Given the description of an element on the screen output the (x, y) to click on. 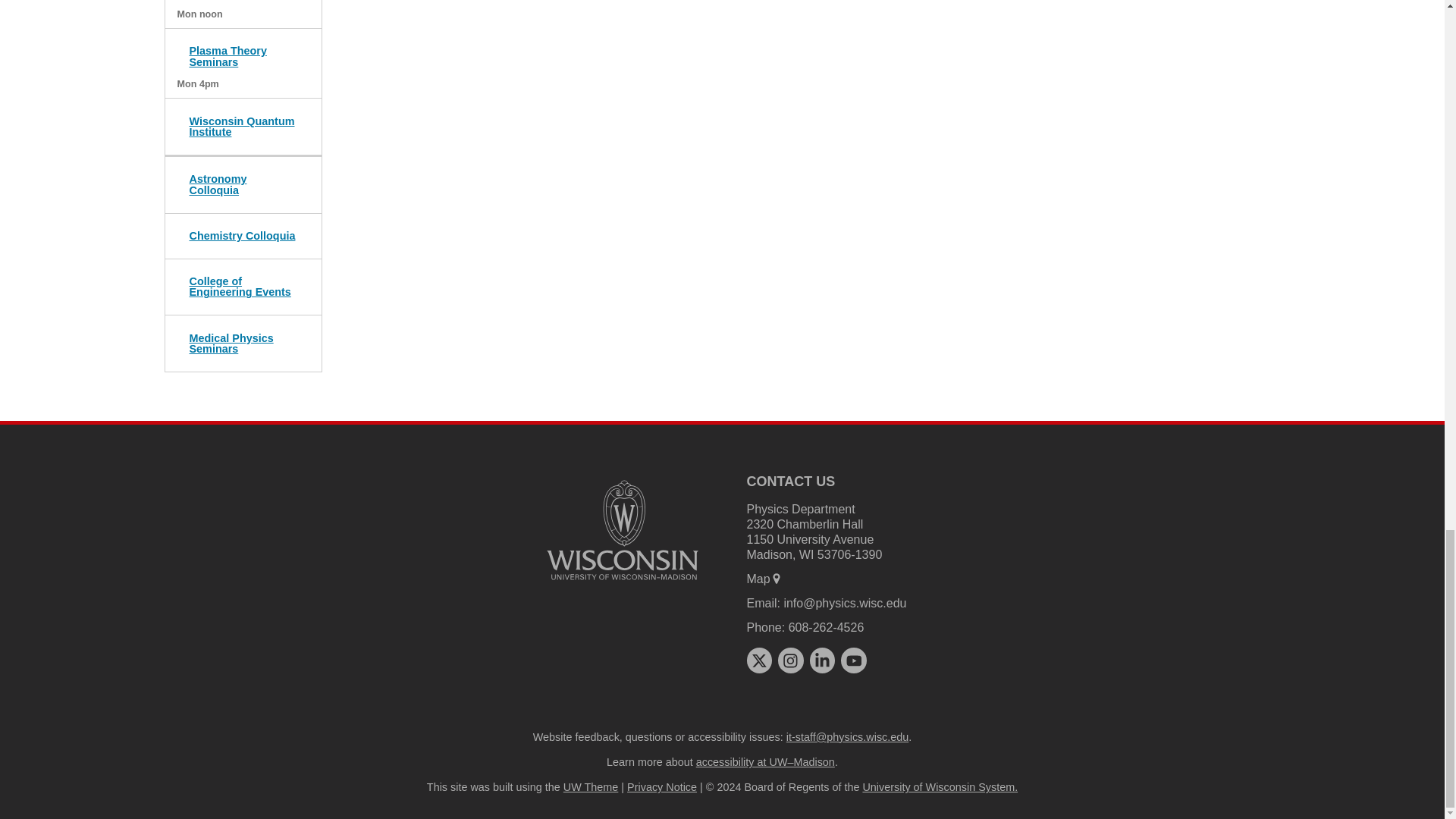
youtube (853, 660)
x twitter (759, 660)
University logo that links to main university website (621, 530)
instagram (790, 660)
linkedin (821, 660)
map marker (776, 578)
